Given the description of an element on the screen output the (x, y) to click on. 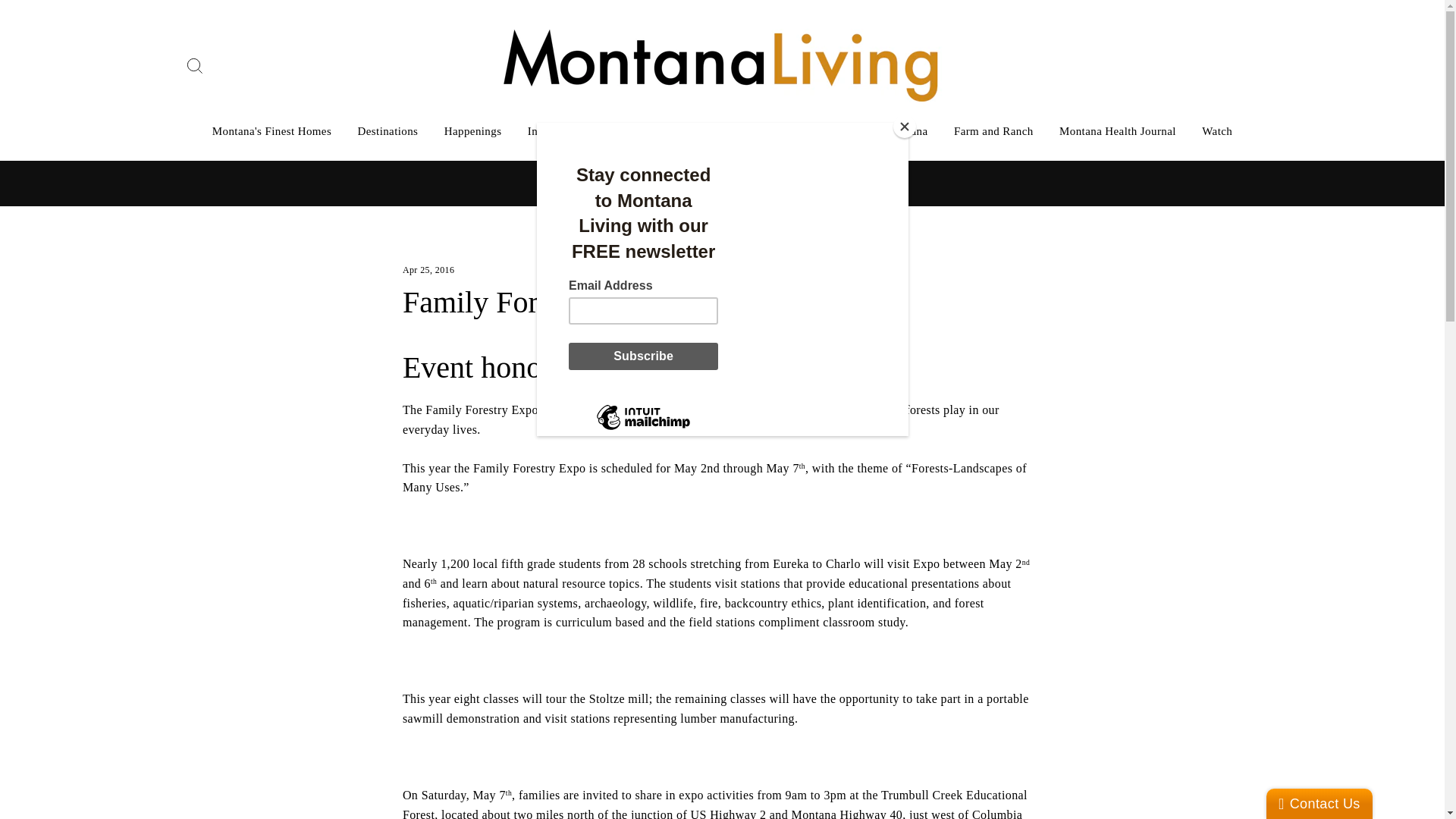
Montana Health Journal (1118, 130)
Montana Matters (716, 130)
Farm and Ranch (993, 130)
Destinations (387, 130)
Outdoors (627, 130)
In the Arts (553, 130)
Watch (1217, 130)
Montana's Finest Homes (271, 130)
People (800, 130)
Taste of Montana (885, 130)
Search (194, 65)
Happenings (472, 130)
